Given the description of an element on the screen output the (x, y) to click on. 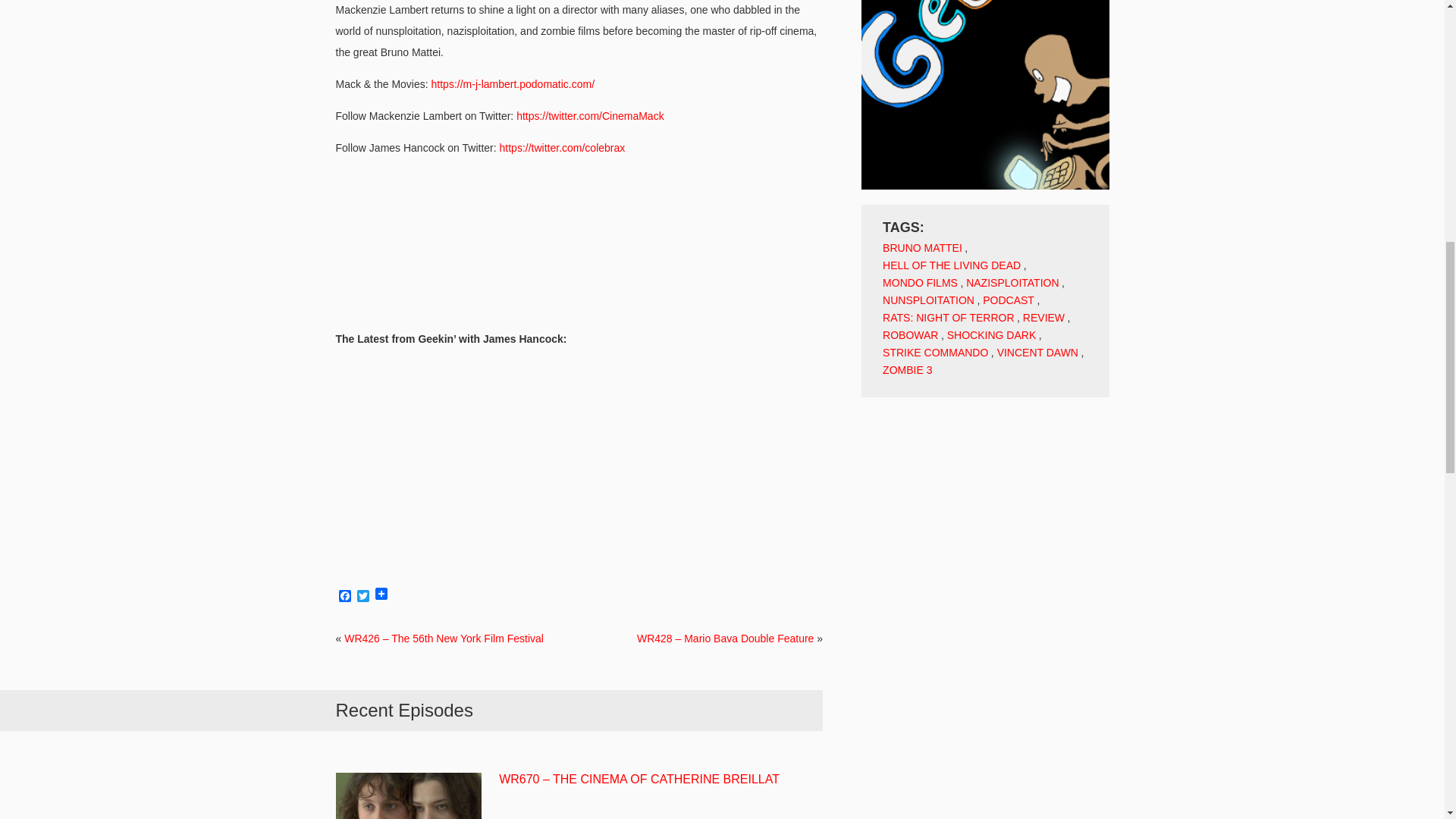
Twitter (362, 596)
Twitter (362, 596)
Facebook (343, 596)
Facebook (343, 596)
